Given the description of an element on the screen output the (x, y) to click on. 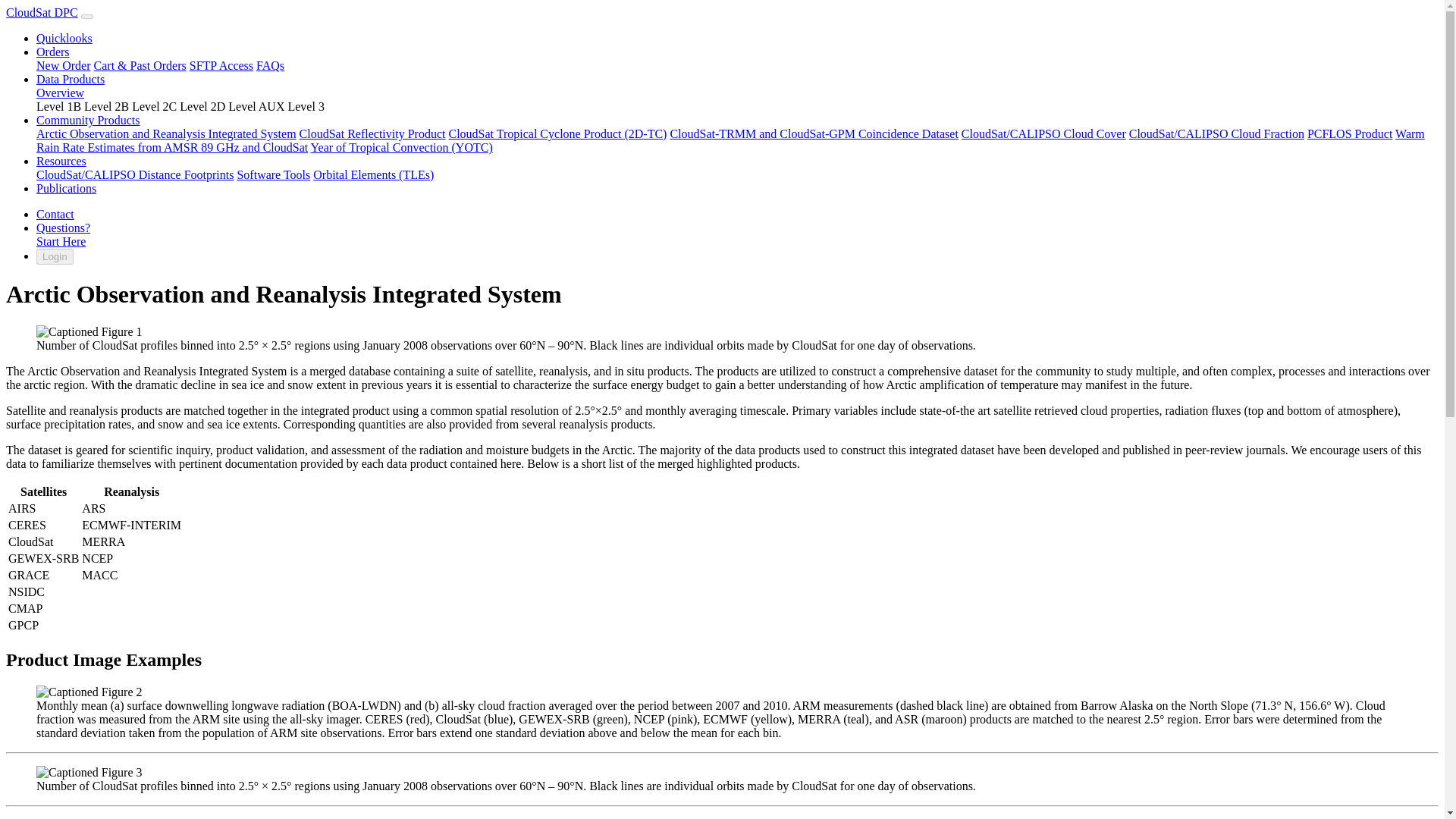
SFTP Access (221, 65)
Quicklooks (64, 38)
Data Products (70, 78)
Level 1B (60, 106)
CloudSat DPC (41, 11)
Level 3 (304, 106)
Level 2C (155, 106)
Overview (60, 92)
Level 2D (203, 106)
Level 2B (108, 106)
